Given the description of an element on the screen output the (x, y) to click on. 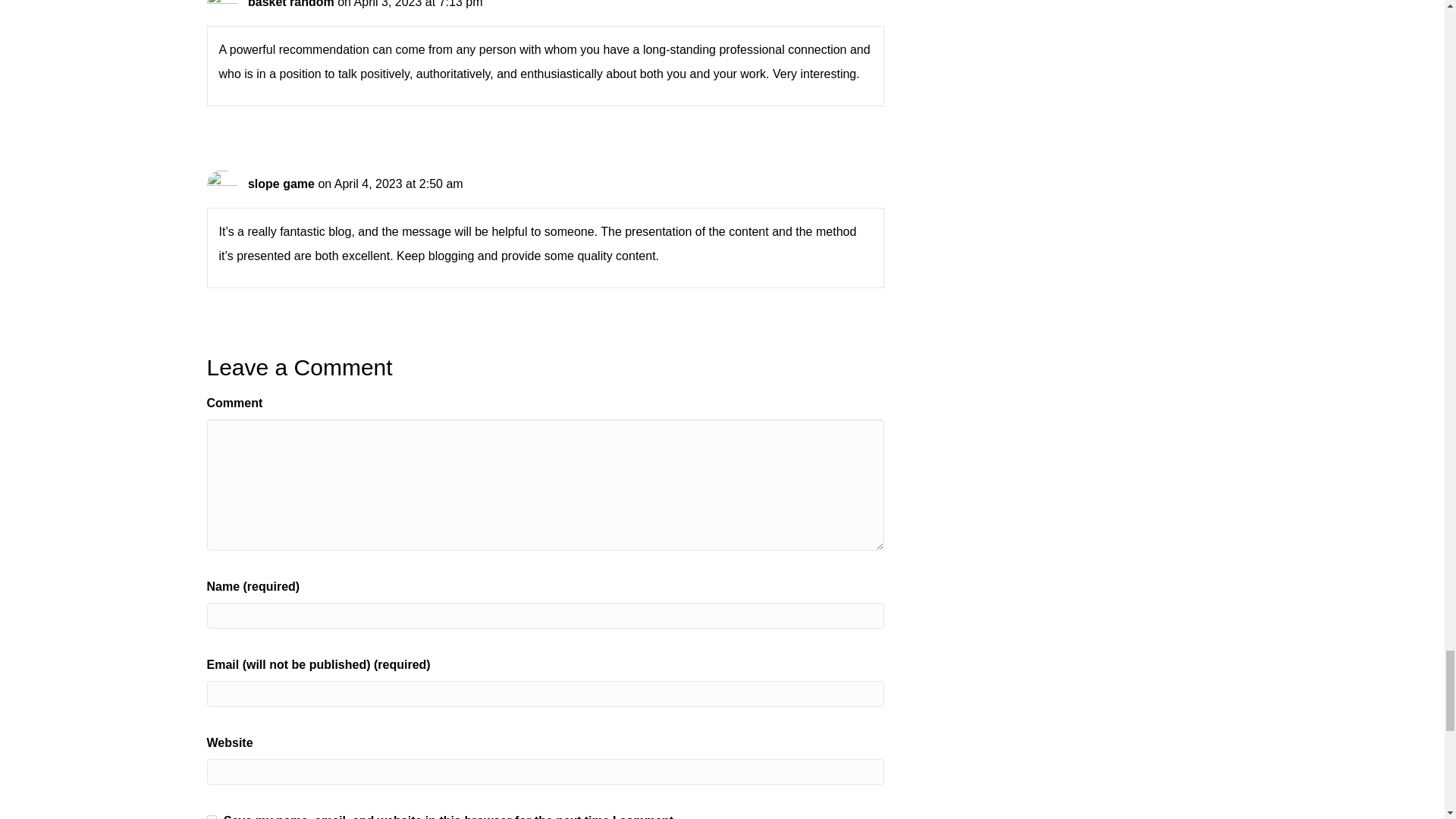
yes (210, 816)
